Given the description of an element on the screen output the (x, y) to click on. 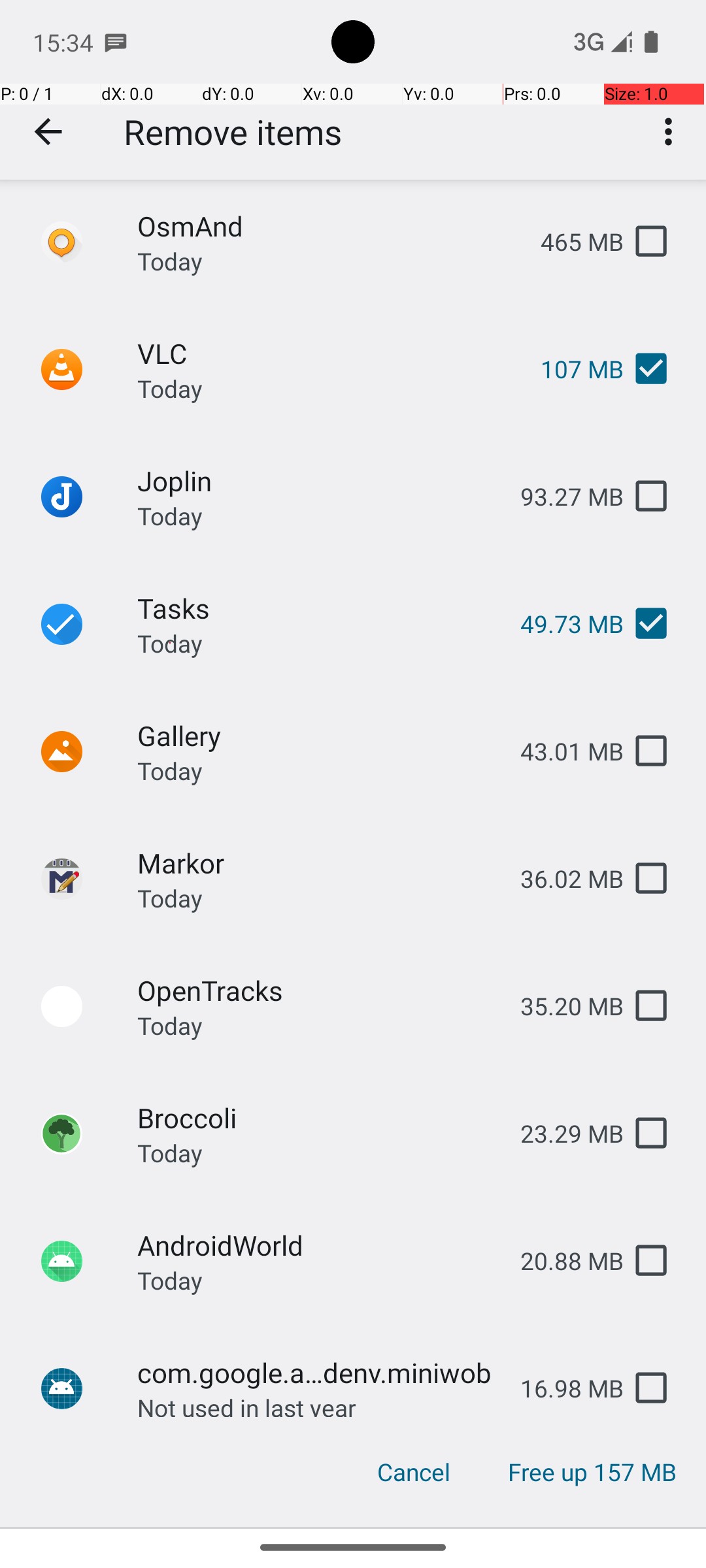
Remove items Element type: android.widget.TextView (232, 131)
Free up 157 MB Element type: android.widget.Button (592, 1471)
465 MB Element type: android.widget.TextView (571, 241)
107 MB Element type: android.widget.TextView (571, 368)
93.27 MB Element type: android.widget.TextView (561, 495)
49.73 MB Element type: android.widget.TextView (561, 623)
43.01 MB Element type: android.widget.TextView (561, 750)
36.02 MB Element type: android.widget.TextView (561, 878)
35.20 MB Element type: android.widget.TextView (561, 1005)
23.29 MB Element type: android.widget.TextView (561, 1132)
20.88 MB Element type: android.widget.TextView (561, 1260)
com.google.androidenv.miniwob Element type: android.widget.TextView (318, 1371)
Not used in last year Element type: android.widget.TextView (246, 1403)
16.98 MB Element type: android.widget.TextView (561, 1387)
